Given the description of an element on the screen output the (x, y) to click on. 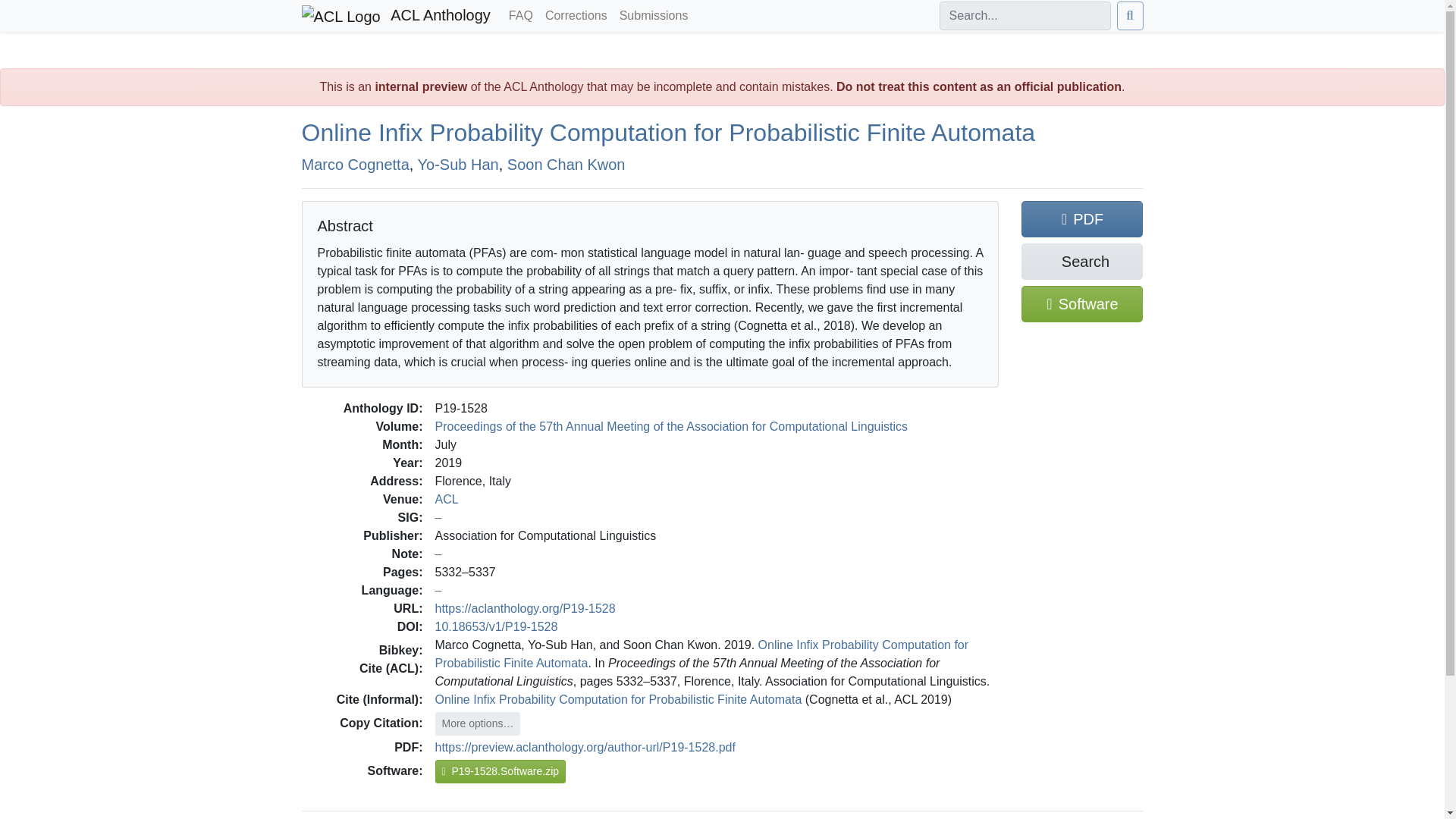
Marco Cognetta (355, 164)
PDF (1082, 218)
 P19-1528.Software.zip (500, 771)
Yo-Sub Han (458, 164)
ACL (446, 499)
Soon Chan Kwon (566, 164)
To the current version of the paper by DOI (496, 626)
Software (1082, 303)
ACL Anthology (395, 15)
